Given the description of an element on the screen output the (x, y) to click on. 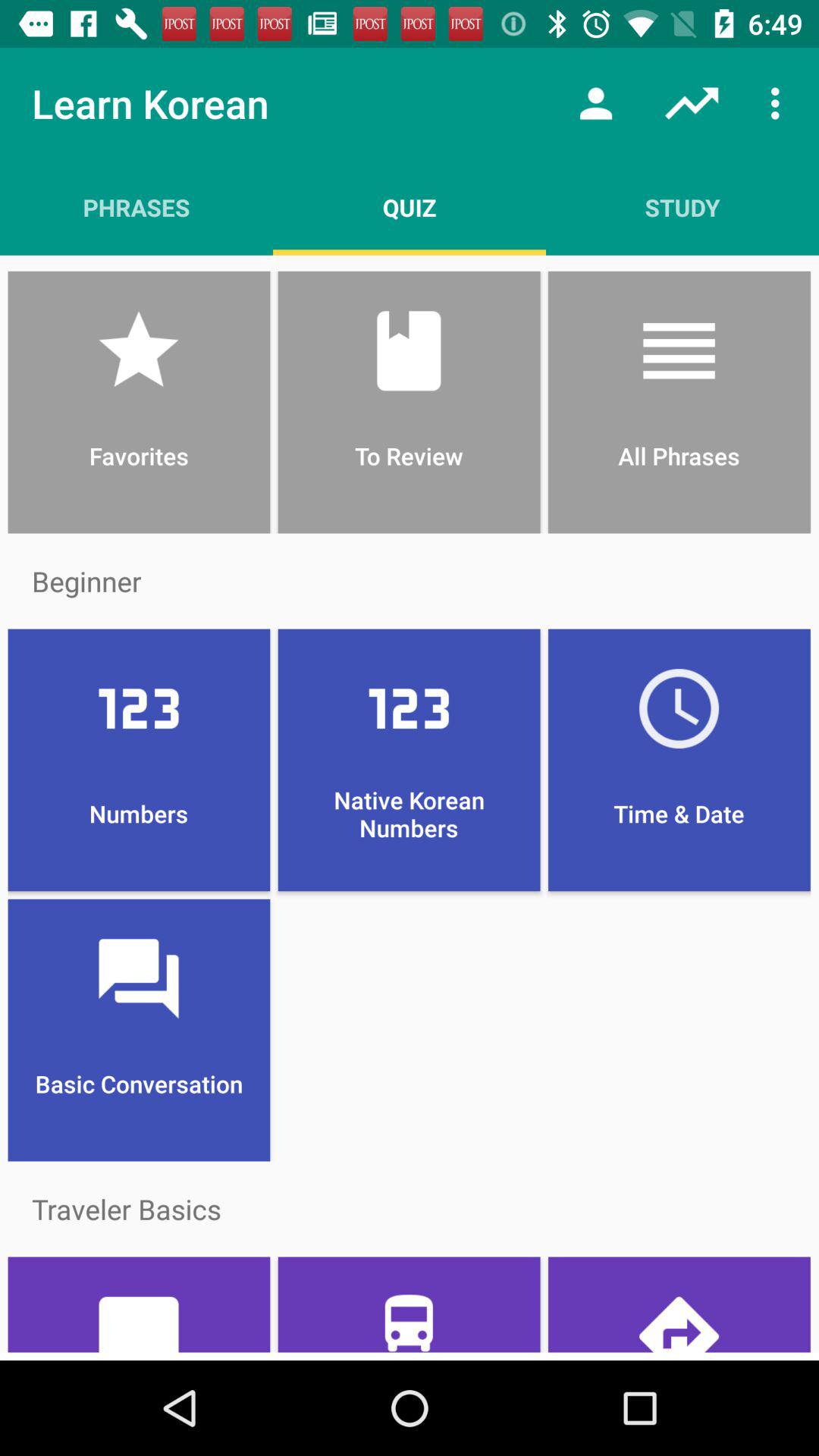
select quiz (409, 207)
